Given the description of an element on the screen output the (x, y) to click on. 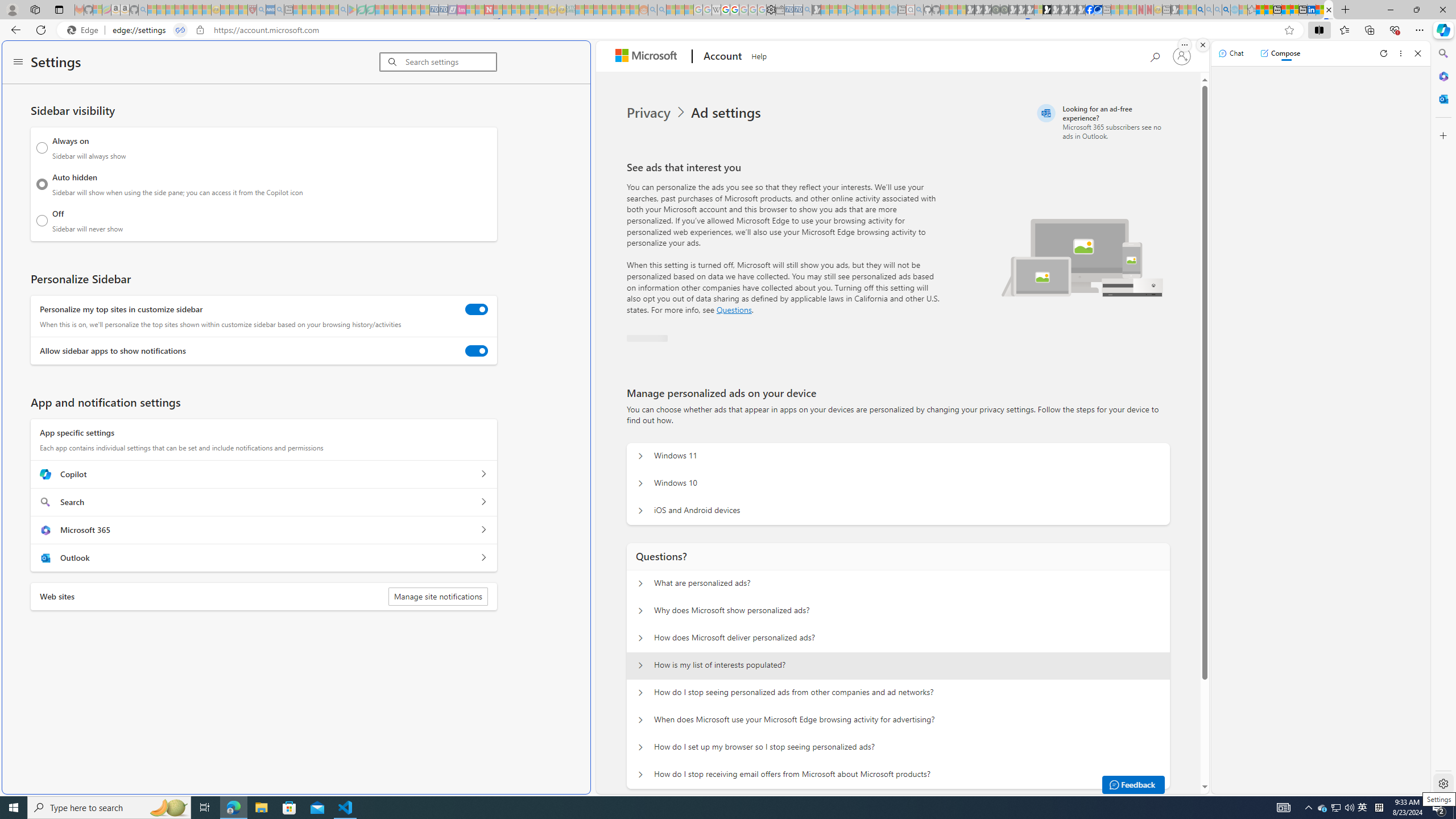
MSN - Sleeping (1174, 9)
